Given the description of an element on the screen output the (x, y) to click on. 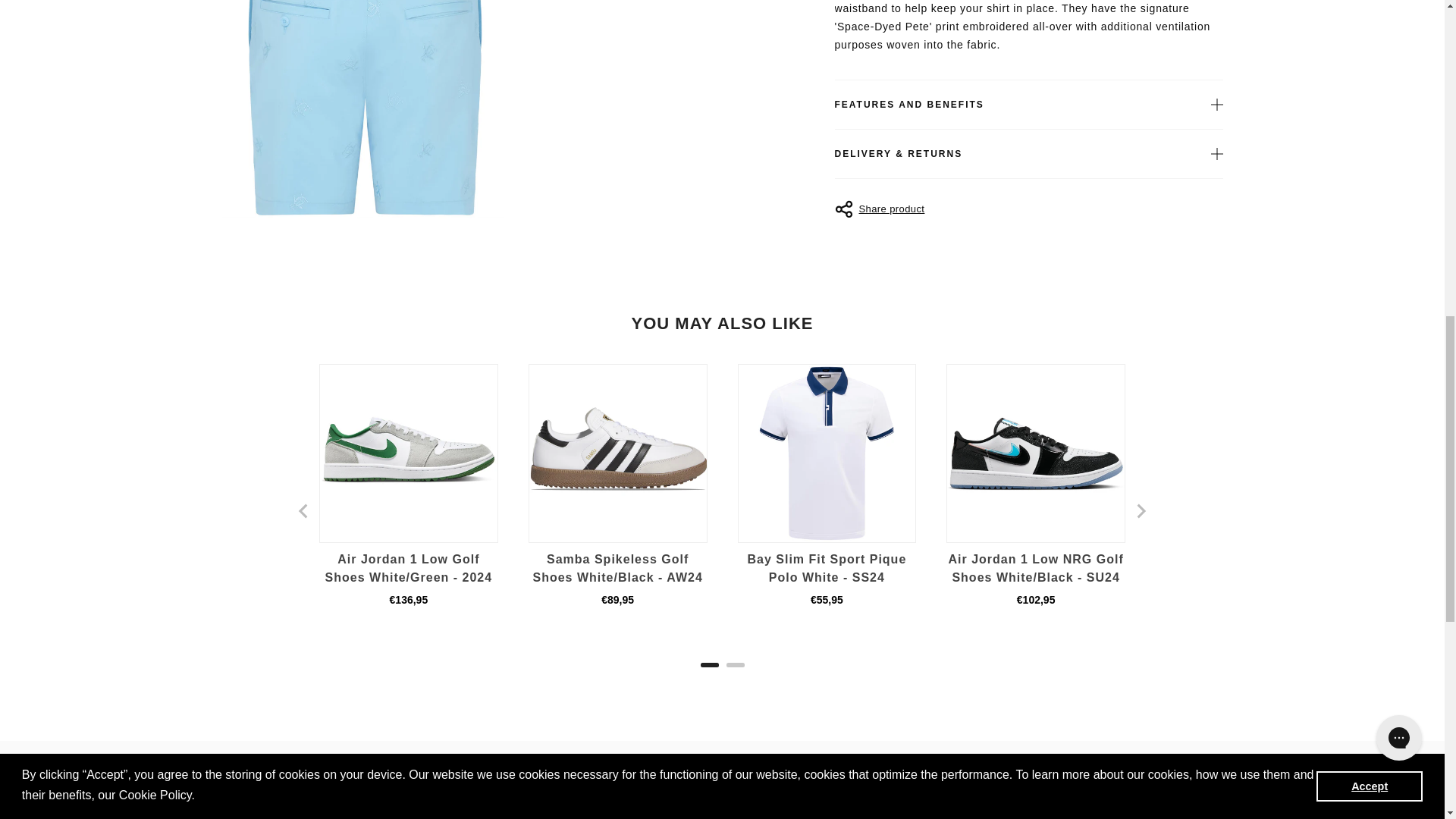
Abonnieren (1159, 811)
